Given the description of an element on the screen output the (x, y) to click on. 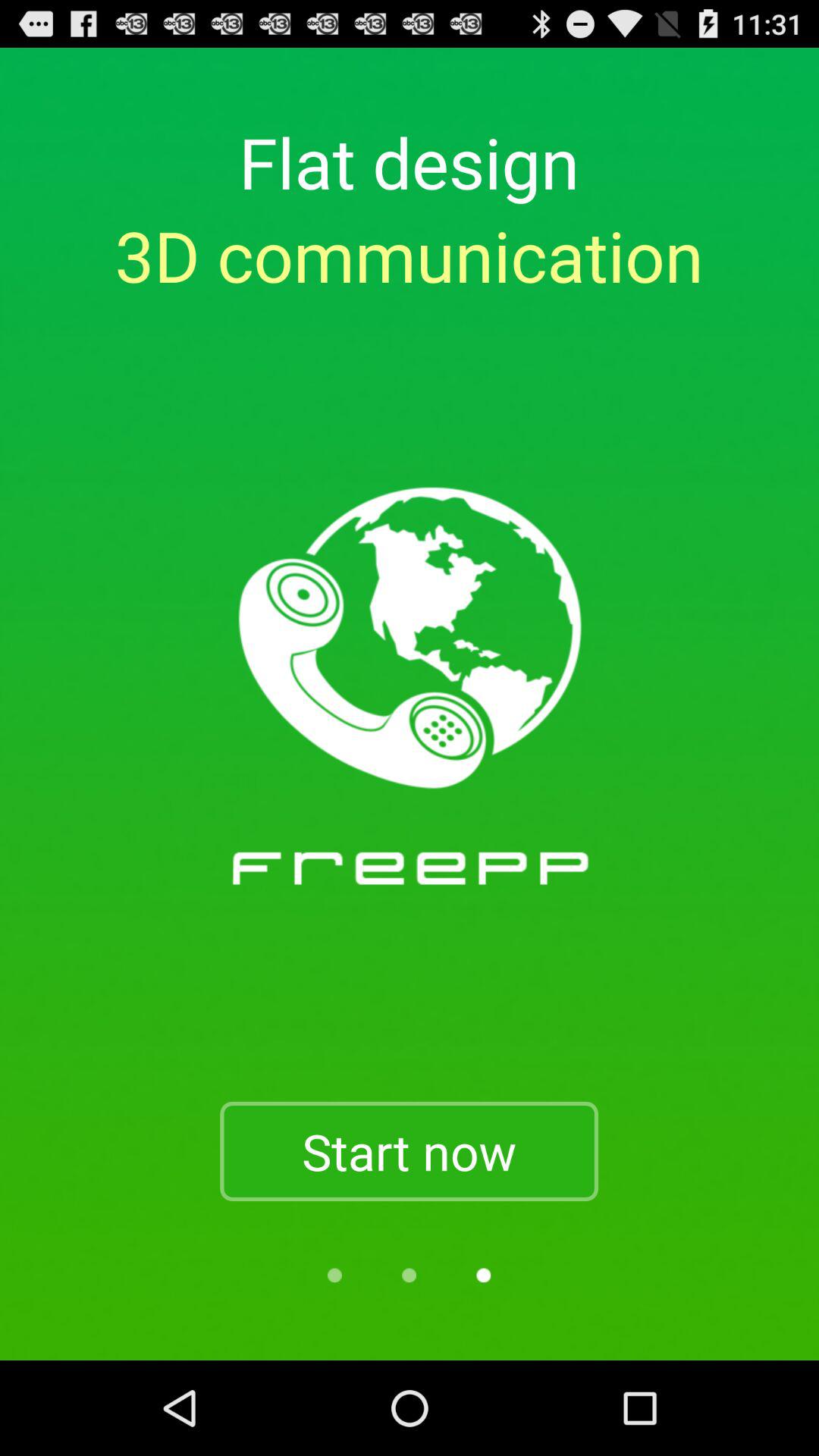
another option (334, 1275)
